Given the description of an element on the screen output the (x, y) to click on. 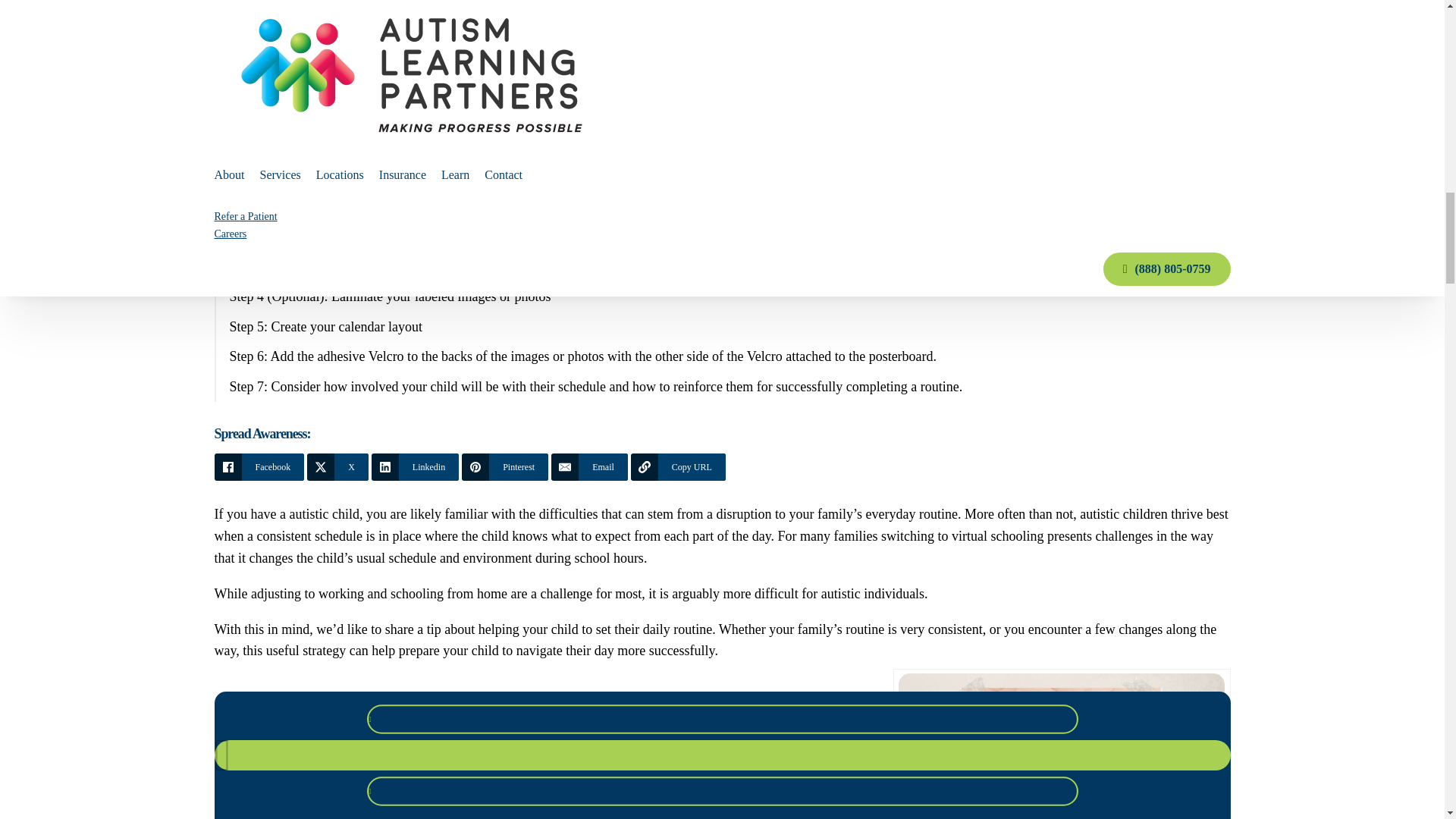
Step 1: Create a list of daily routine tasks (717, 206)
Step 5: Create your calendar layout (717, 327)
Step 3: Print and label images or photos (717, 266)
Create a Daily Routine Calendar with Rearrangeable Tasks (714, 146)
